Given the description of an element on the screen output the (x, y) to click on. 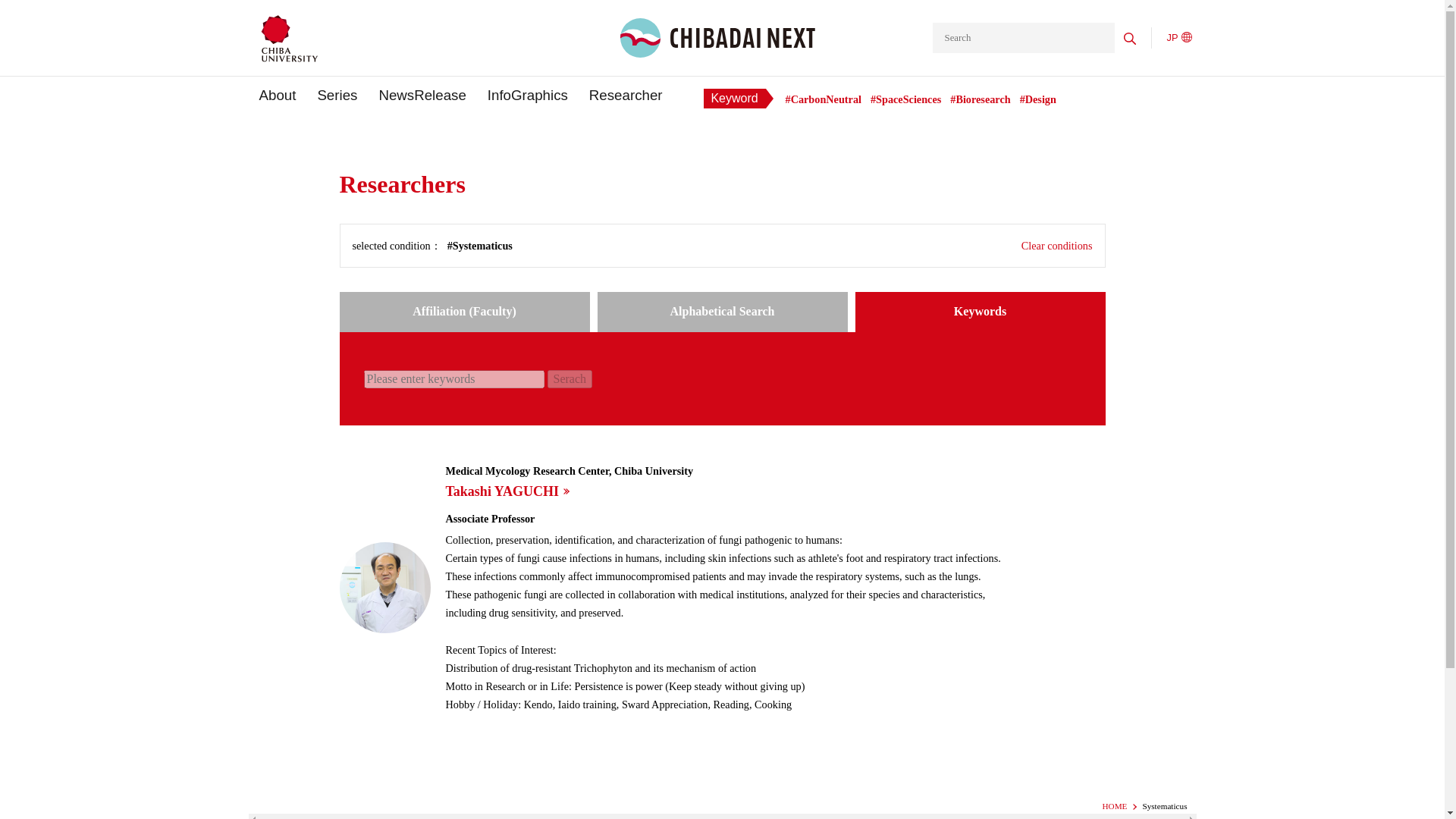
About (278, 95)
NewsRelease (421, 95)
Alphabetical Search (721, 311)
Link to Japanese page (1178, 38)
Keywords (980, 311)
Researcher (625, 95)
InfoGraphics (527, 95)
Clear conditions (1057, 245)
Serach (569, 379)
JP (1178, 38)
Site search (1024, 37)
Series (336, 95)
